Given the description of an element on the screen output the (x, y) to click on. 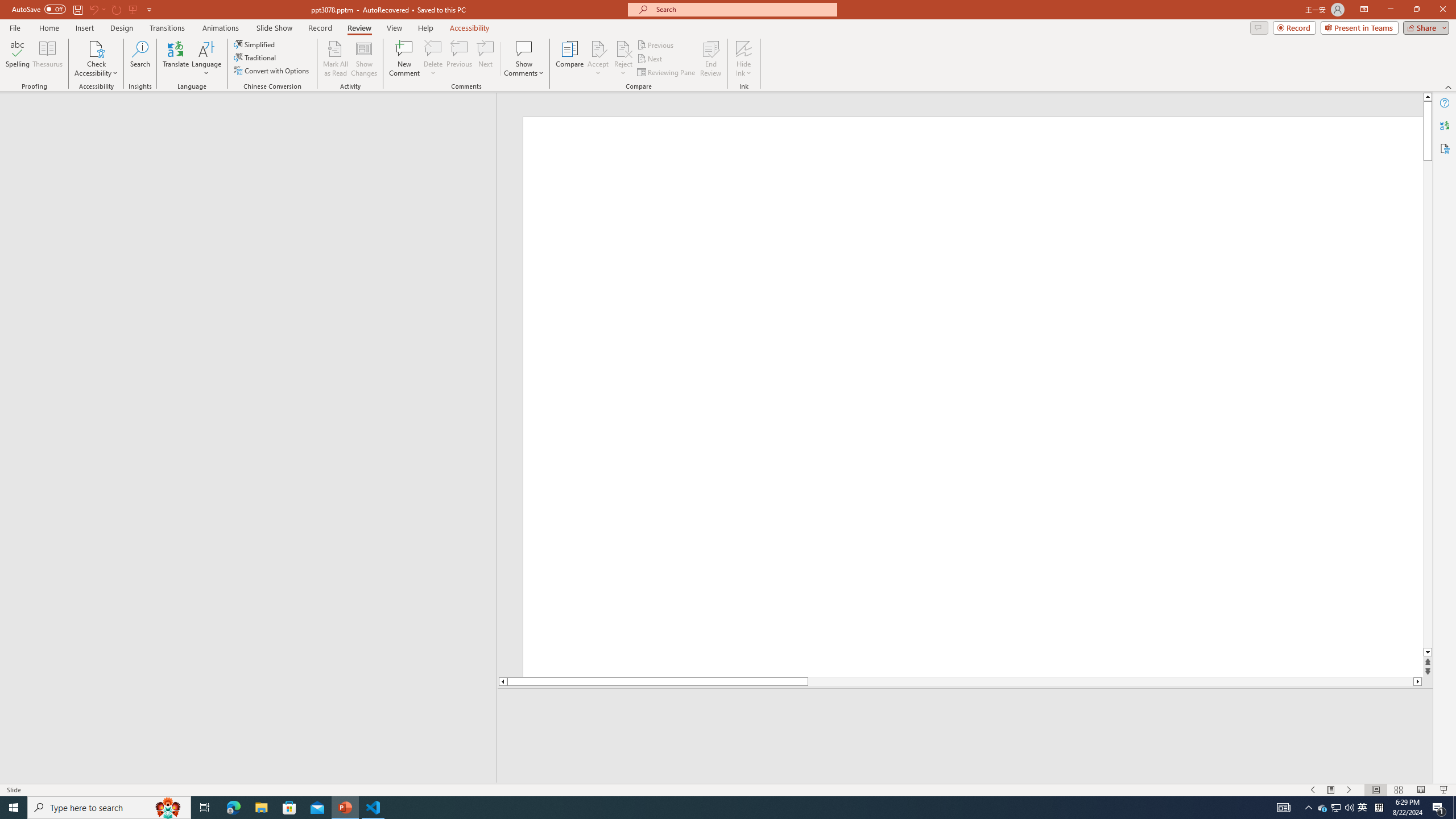
Delete (432, 48)
End Review (710, 58)
Hide Ink (743, 48)
New Comment (403, 58)
Menu On (1331, 790)
Hide Ink (743, 58)
